Given the description of an element on the screen output the (x, y) to click on. 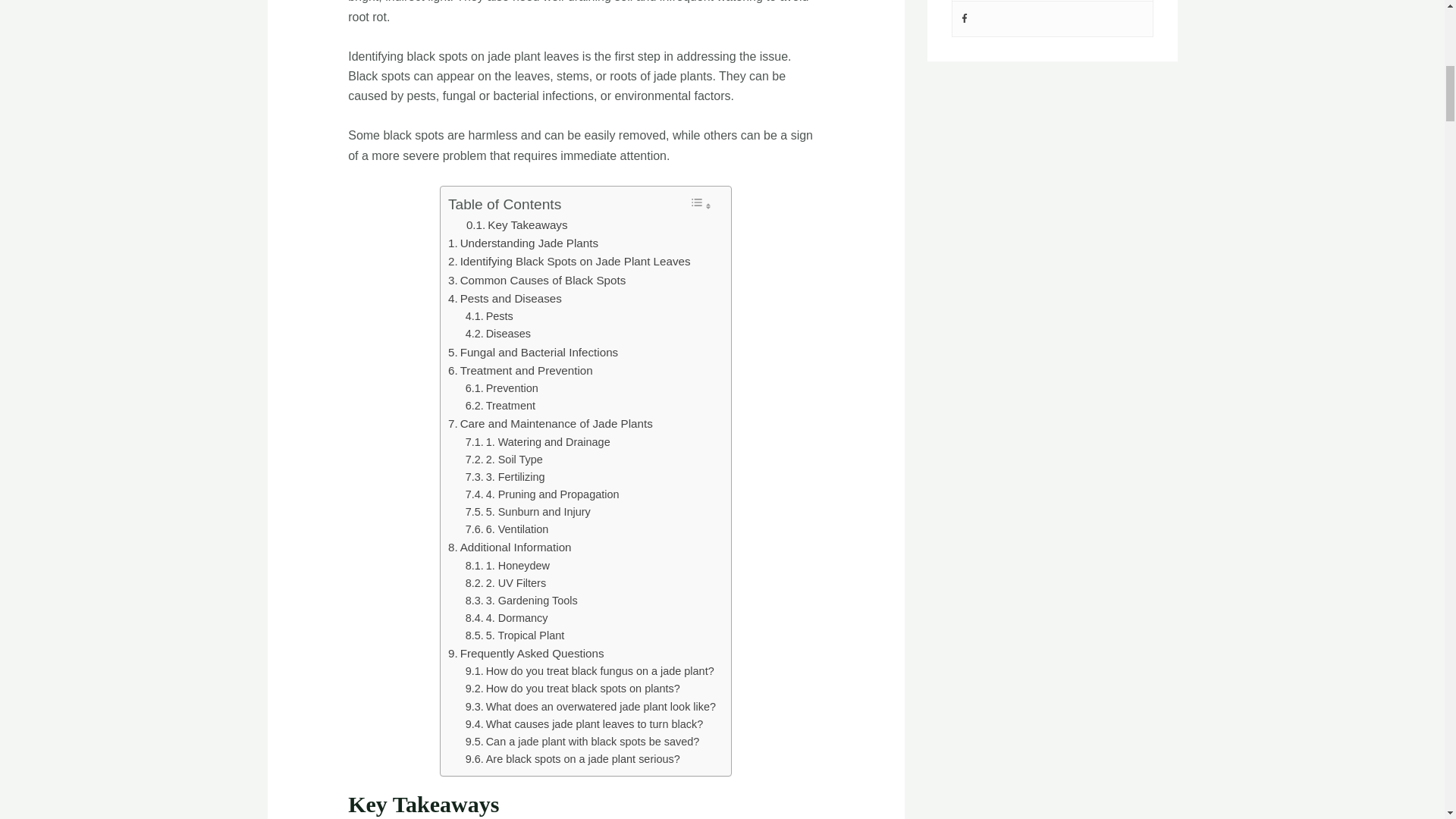
Understanding Jade Plants (523, 243)
Key Takeaways (516, 225)
Pests and Diseases (505, 298)
Diseases (498, 334)
Pests and Diseases (505, 298)
Fungal and Bacterial Infections (532, 352)
Treatment and Prevention (520, 370)
Pests (489, 316)
Understanding Jade Plants (523, 243)
Common Causes of Black Spots (537, 280)
